Given the description of an element on the screen output the (x, y) to click on. 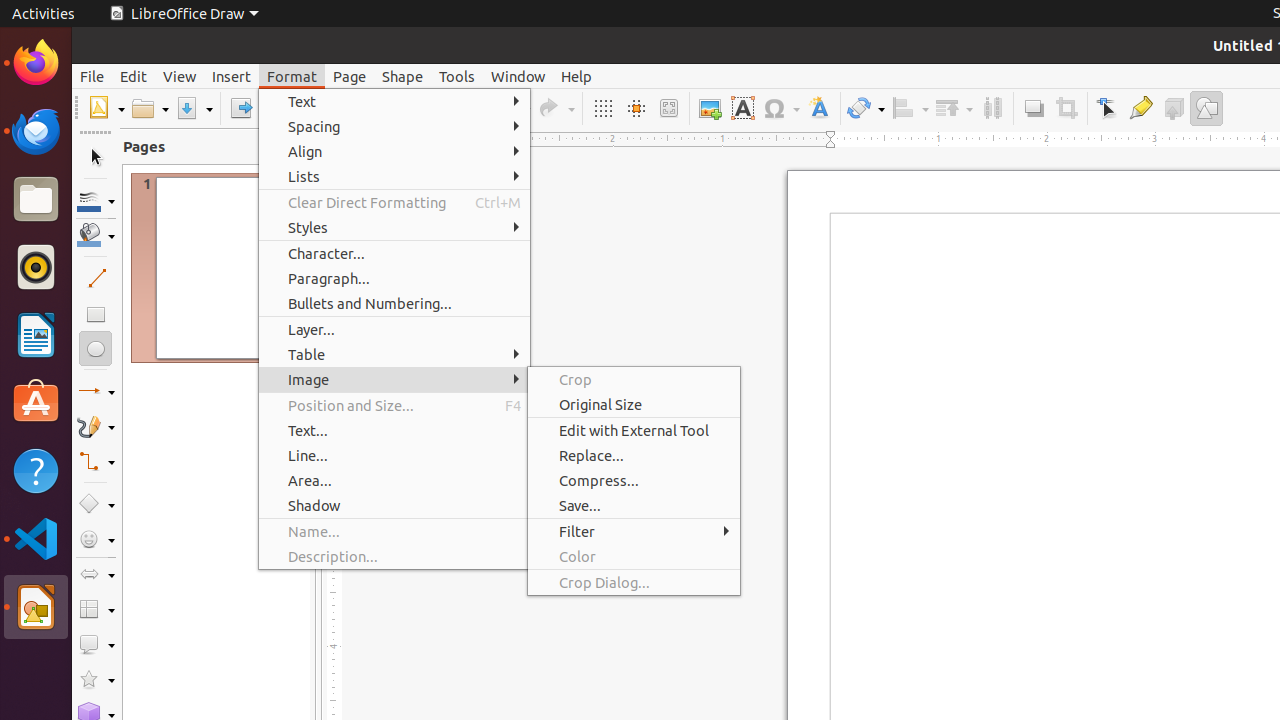
Crop Element type: menu-item (634, 379)
Character... Element type: menu-item (394, 253)
Tools Element type: menu (457, 76)
Paragraph... Element type: menu-item (394, 278)
